Given the description of an element on the screen output the (x, y) to click on. 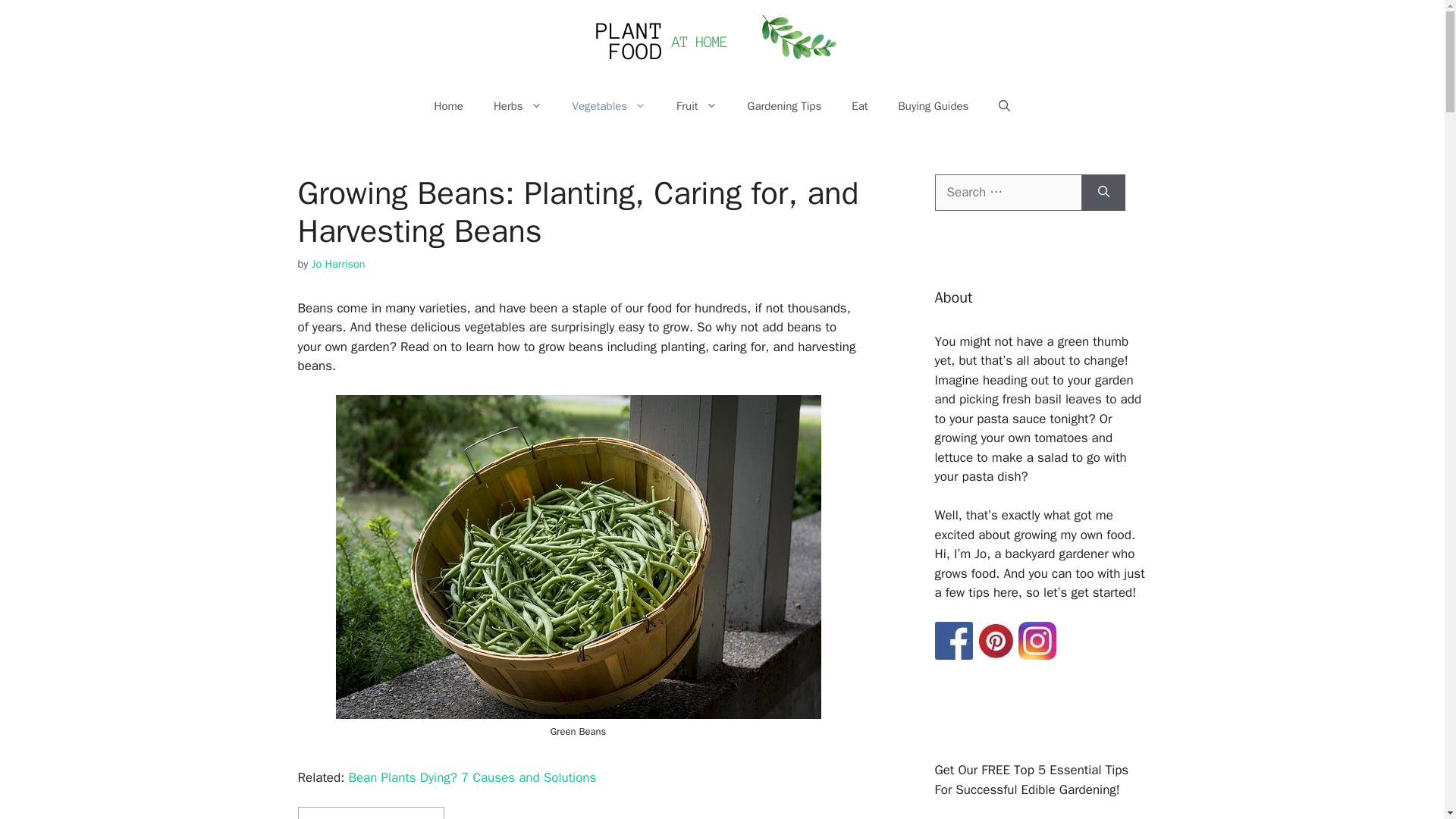
Herbs (518, 105)
Home (449, 105)
Vegetables (609, 105)
View all posts by Jo Harrison (338, 264)
Search for: (1007, 192)
